Given the description of an element on the screen output the (x, y) to click on. 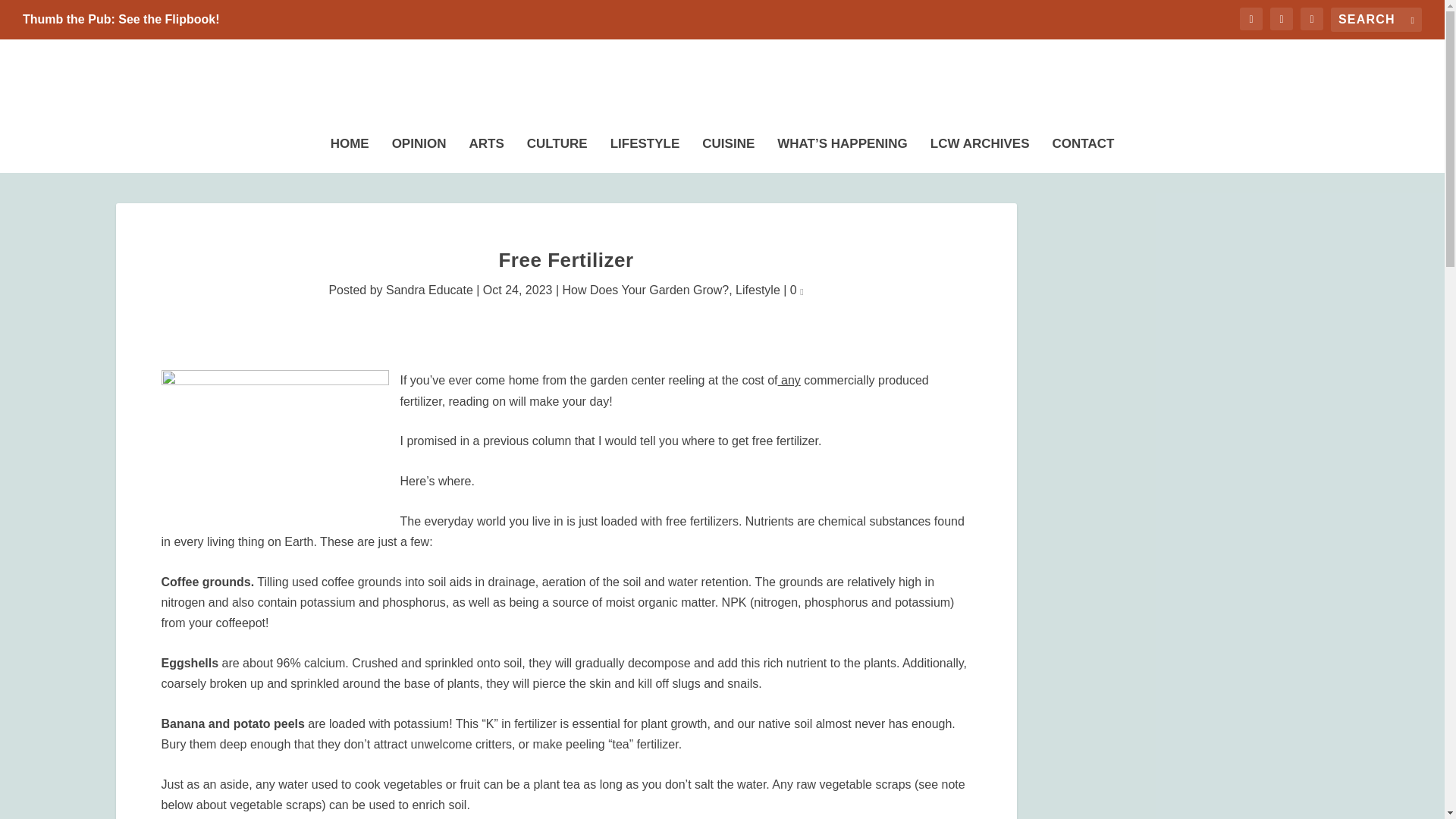
Thumb the Pub: See the Flipbook! (121, 19)
Sandra Educate (429, 289)
How Does Your Garden Grow? (645, 289)
LCW ARCHIVES (979, 151)
comment count (801, 291)
ARTS (485, 151)
HOME (349, 151)
Lifestyle (757, 289)
OPINION (418, 151)
CUISINE (727, 151)
0 (796, 289)
LIFESTYLE (644, 151)
CONTACT (1083, 151)
CULTURE (557, 151)
Posts by Sandra Educate (429, 289)
